Given the description of an element on the screen output the (x, y) to click on. 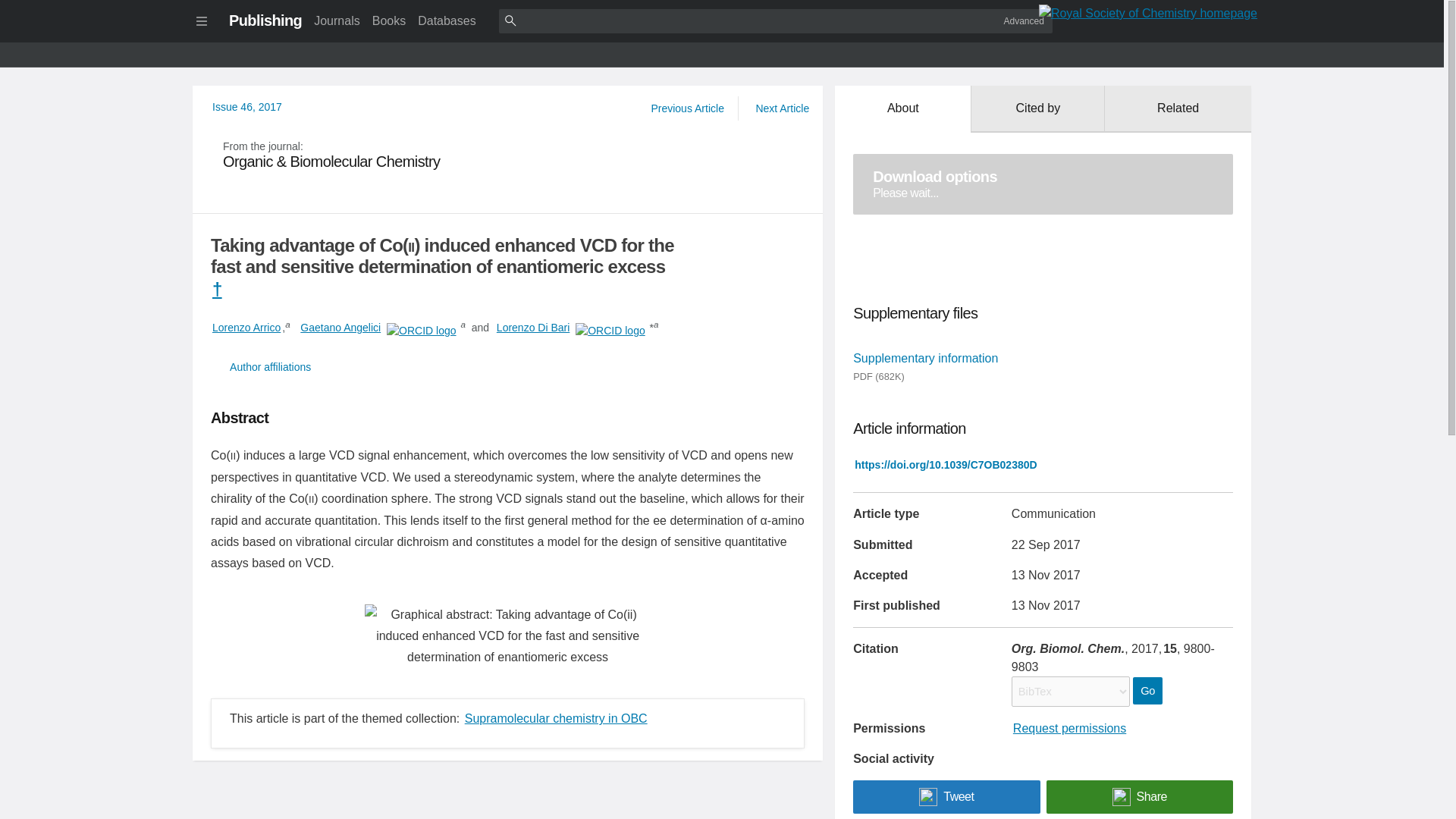
Lorenzo Di Bari (533, 327)
Books (389, 20)
Link to landing page via DOI (945, 464)
Journals (336, 20)
Go (1146, 690)
Request permissions (1068, 728)
Advanced (1043, 183)
Lorenzo Arrico (1023, 20)
Issue 46, 2017 (246, 327)
